Given the description of an element on the screen output the (x, y) to click on. 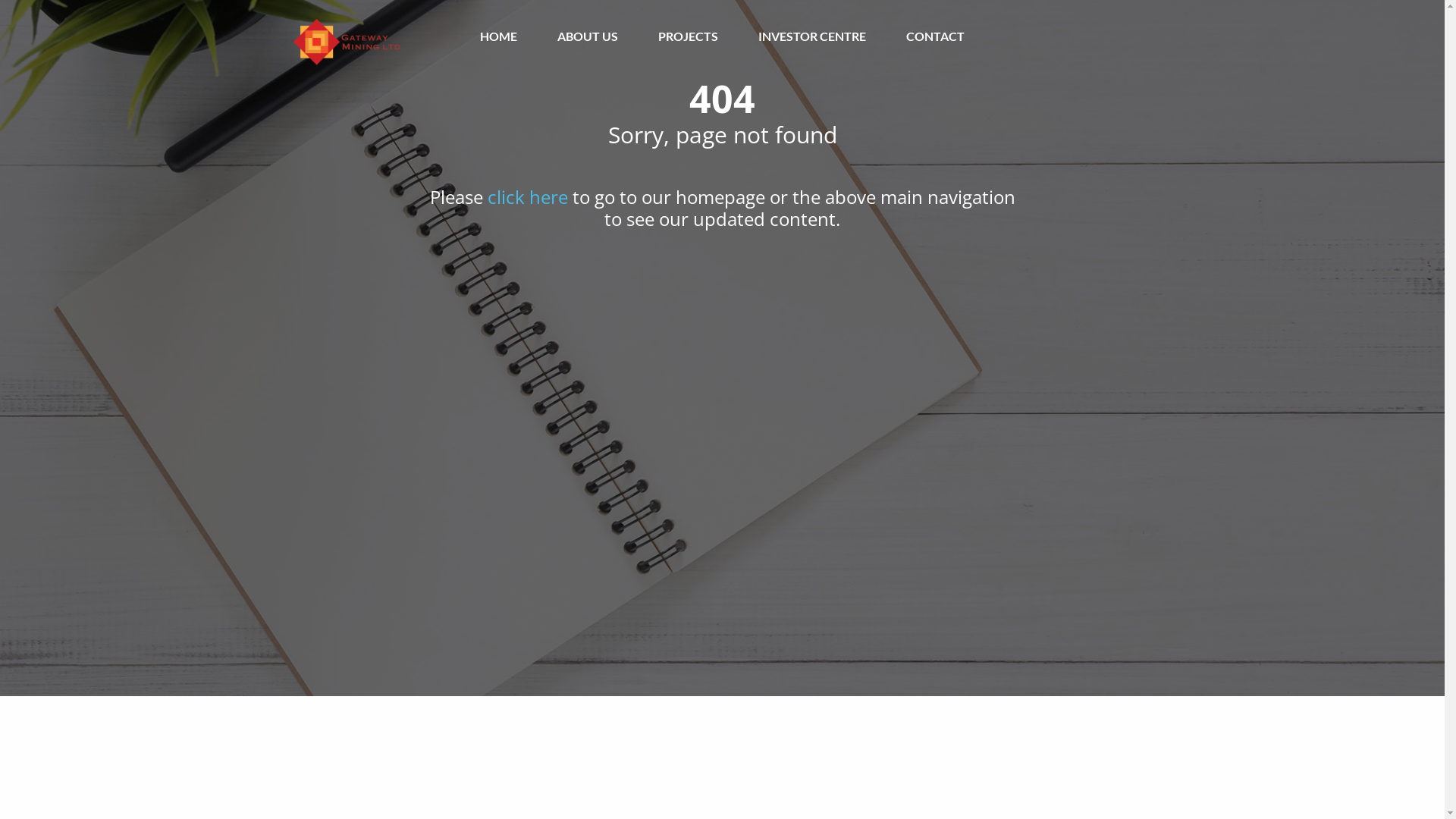
ABOUT US Element type: text (587, 36)
CONTACT Element type: text (935, 36)
PROJECTS Element type: text (688, 36)
click here Element type: text (526, 196)
INVESTOR CENTRE Element type: text (811, 36)
HOME Element type: text (498, 36)
